Given the description of an element on the screen output the (x, y) to click on. 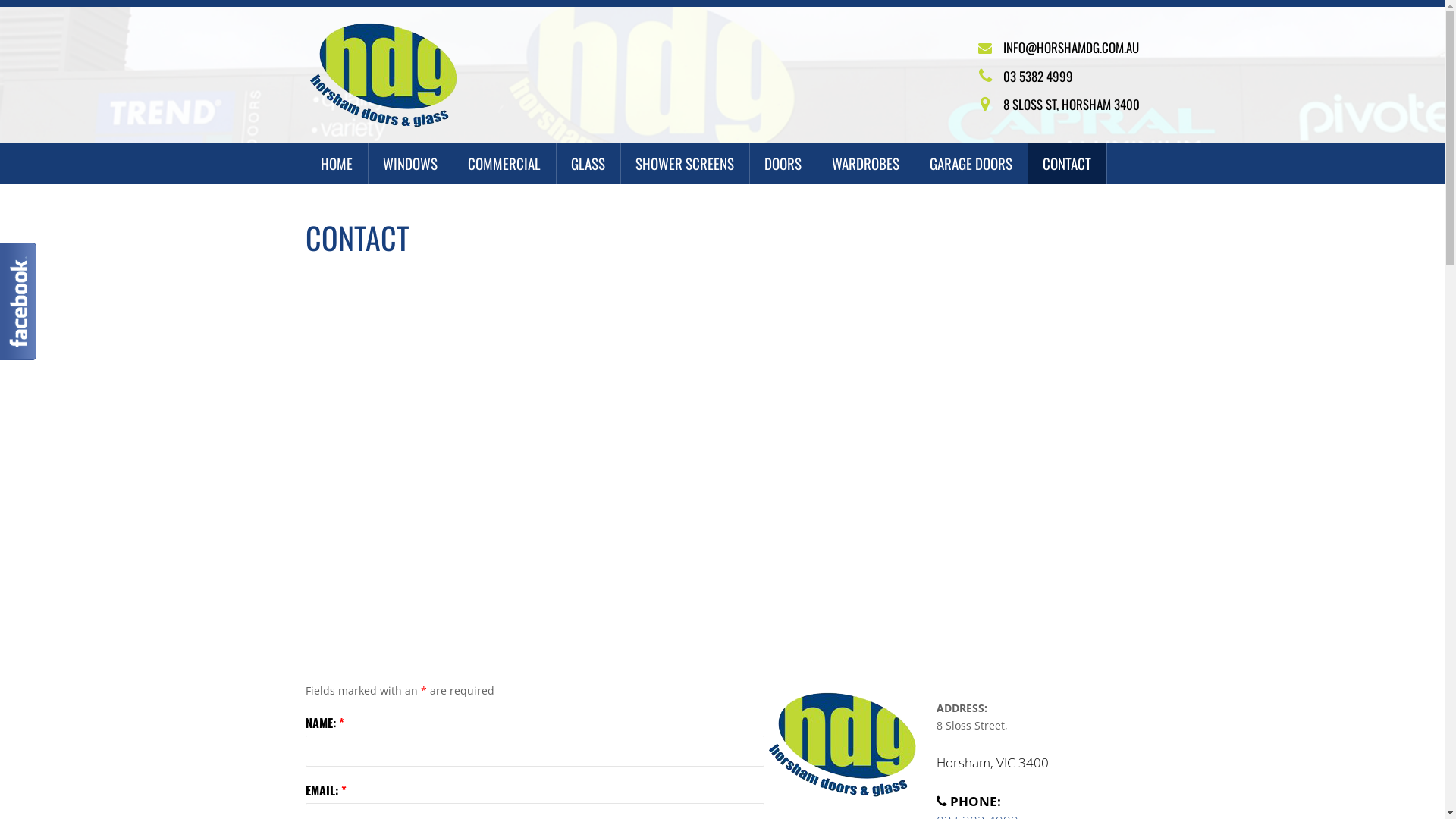
INFO@HORSHAMDG.COM.AU Element type: text (1070, 46)
DOORS Element type: text (782, 163)
CONTACT Element type: text (1067, 163)
8 SLOSS ST, HORSHAM 3400 Element type: text (1070, 103)
GARAGE DOORS Element type: text (970, 163)
WINDOWS Element type: text (410, 163)
WARDROBES Element type: text (865, 163)
GLASS Element type: text (588, 163)
HOME Element type: text (336, 163)
SHOWER SCREENS Element type: text (684, 163)
03 5382 4999 Element type: text (1037, 75)
COMMERCIAL Element type: text (504, 163)
